Given the description of an element on the screen output the (x, y) to click on. 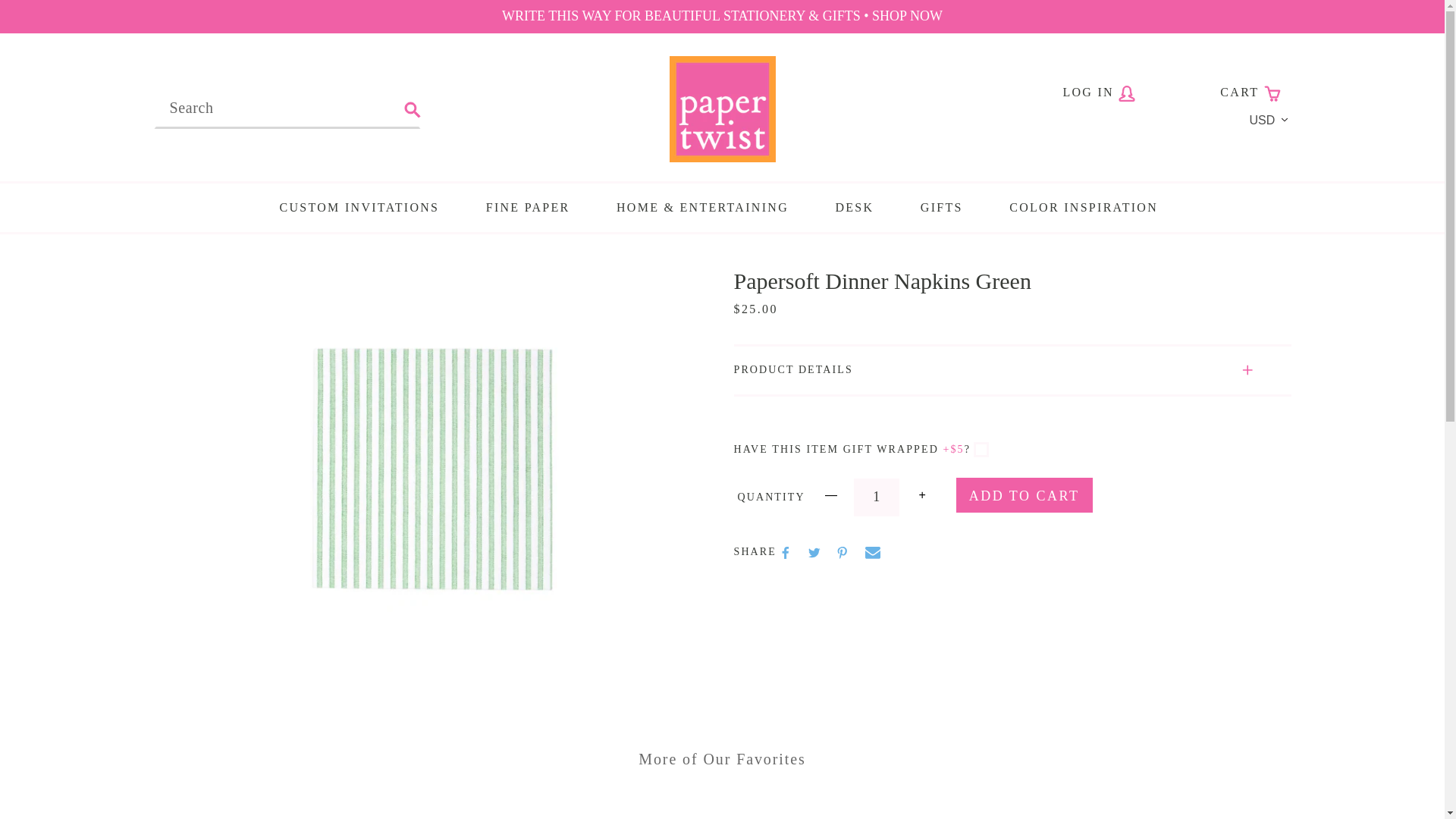
LOG IN (1099, 91)
CART (1250, 91)
1 (876, 497)
SUBMIT (413, 108)
31795659669555 (981, 449)
Share by Email (872, 552)
